Given the description of an element on the screen output the (x, y) to click on. 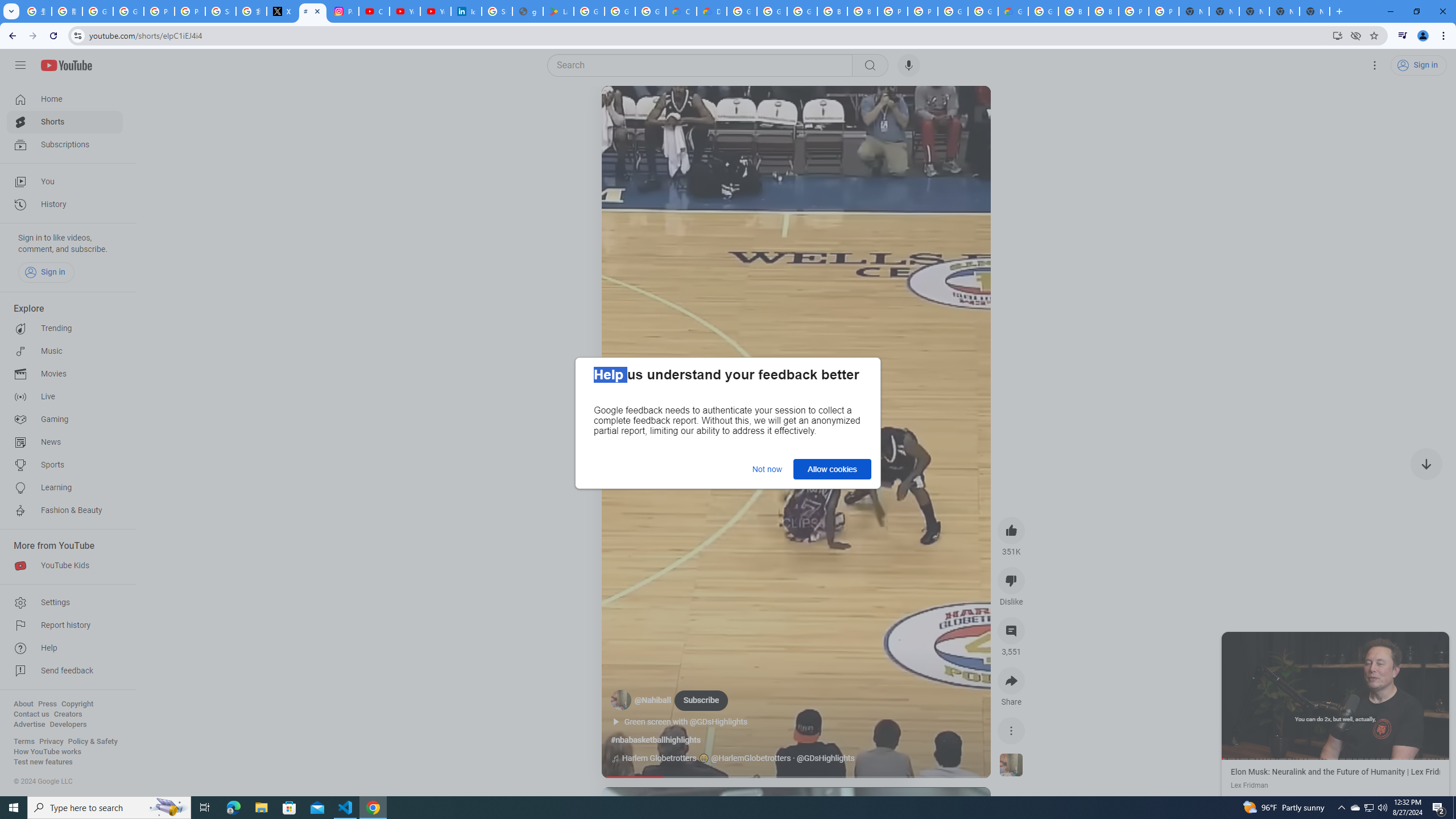
Contact us (31, 714)
Pause (k) (1334, 694)
Play (k) (623, 108)
Allow cookies (831, 468)
#nbabasketballhighlights (655, 740)
Share (1011, 680)
Next (SHIFT+n) (1392, 694)
